Given the description of an element on the screen output the (x, y) to click on. 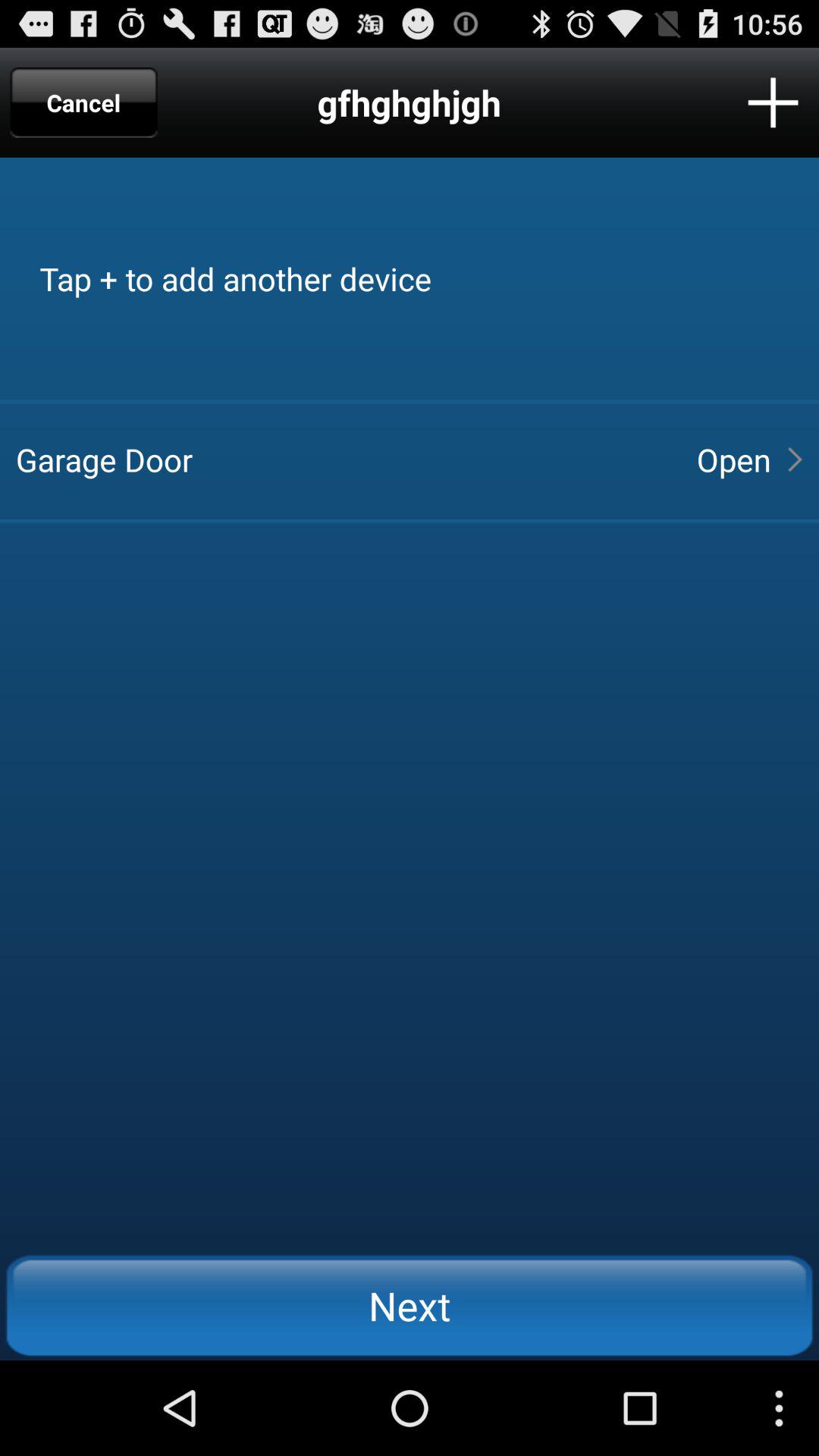
tap the app to the right of garage door app (733, 459)
